Given the description of an element on the screen output the (x, y) to click on. 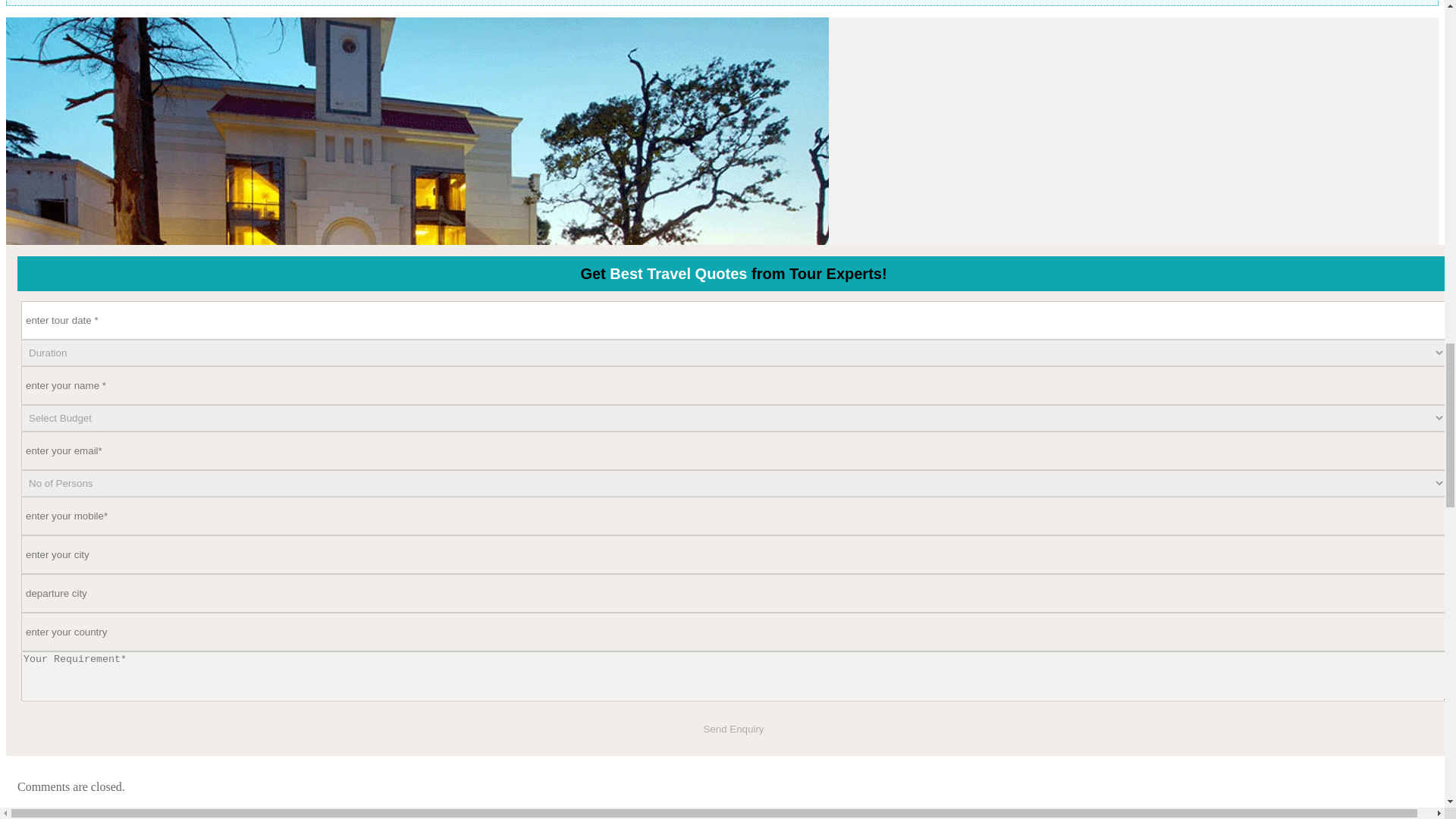
Send Enquiry (733, 728)
